Given the description of an element on the screen output the (x, y) to click on. 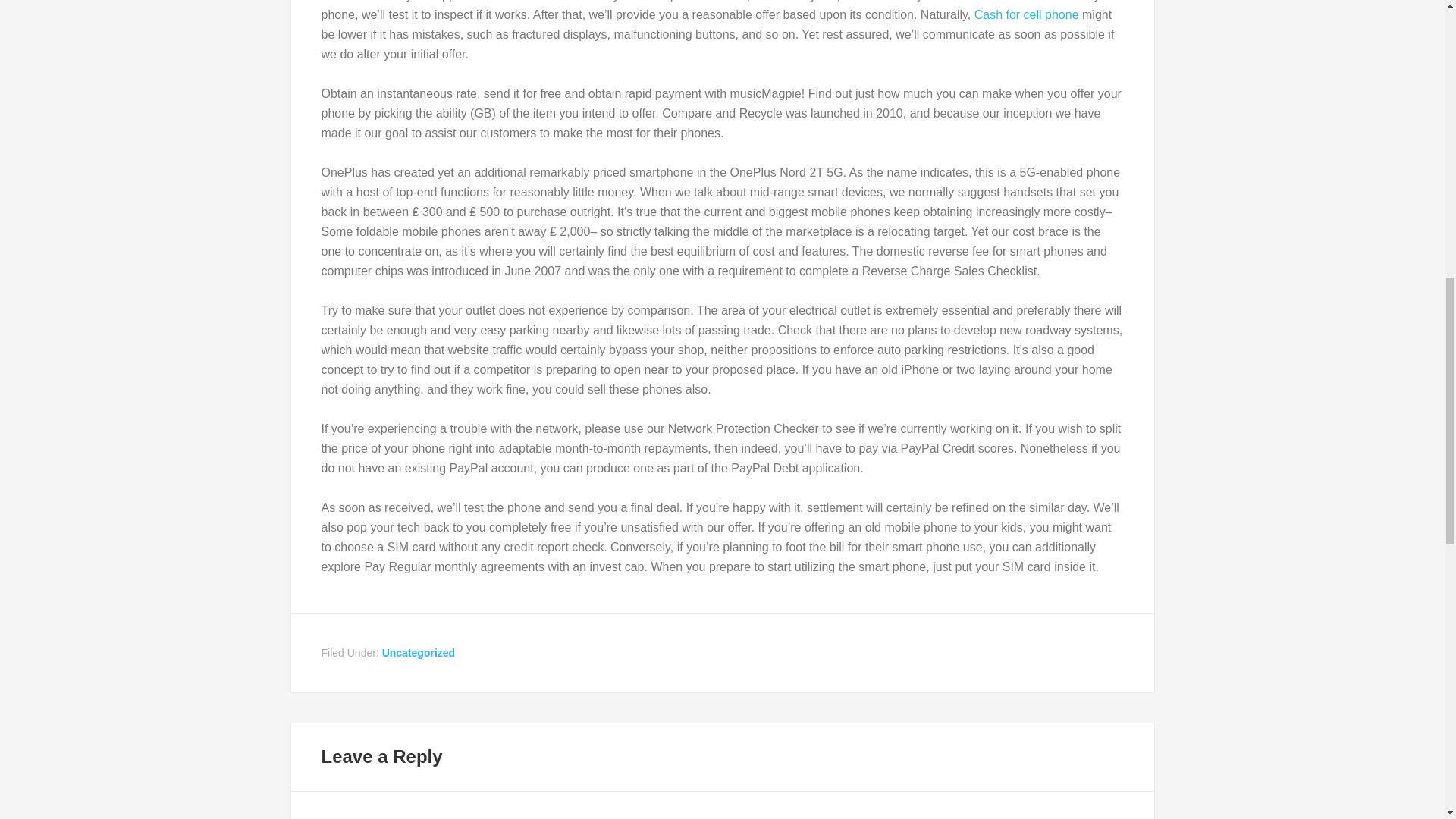
Cash for cell phone (1026, 14)
Uncategorized (417, 653)
